Given the description of an element on the screen output the (x, y) to click on. 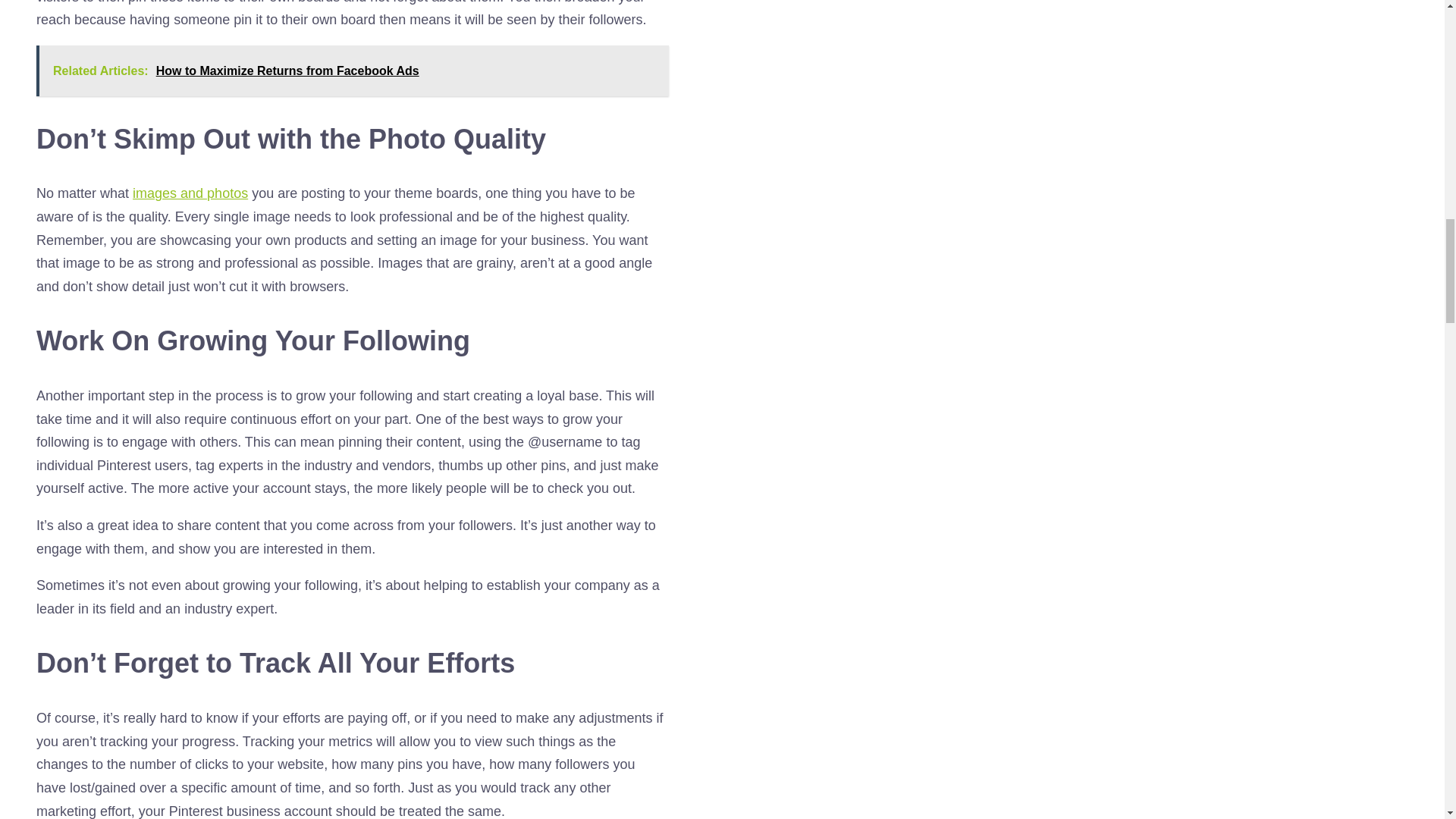
Related Articles:  How to Maximize Returns from Facebook Ads (352, 70)
images and photos (189, 192)
